Given the description of an element on the screen output the (x, y) to click on. 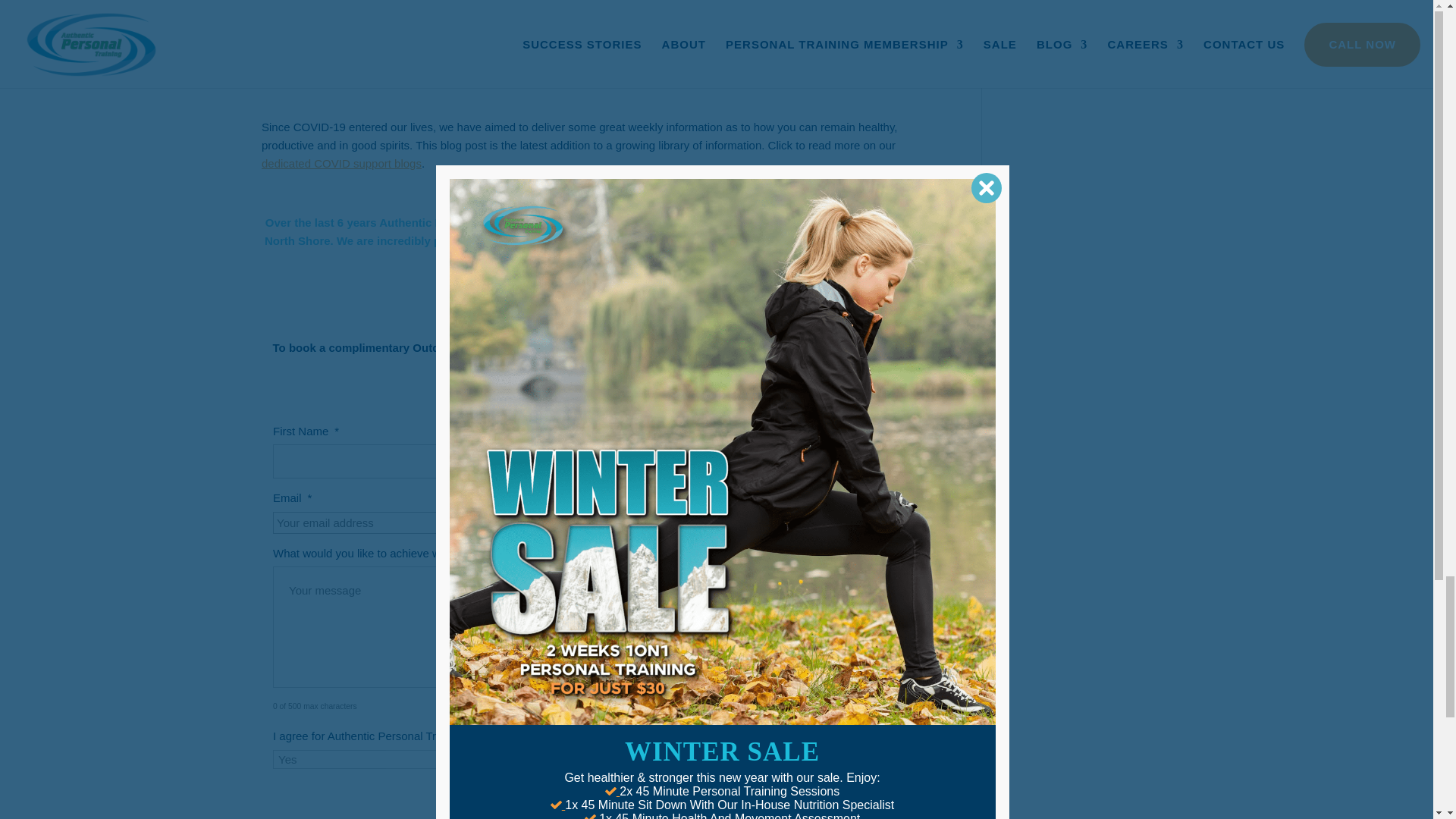
dedicated COVID support blogs (342, 163)
